Given the description of an element on the screen output the (x, y) to click on. 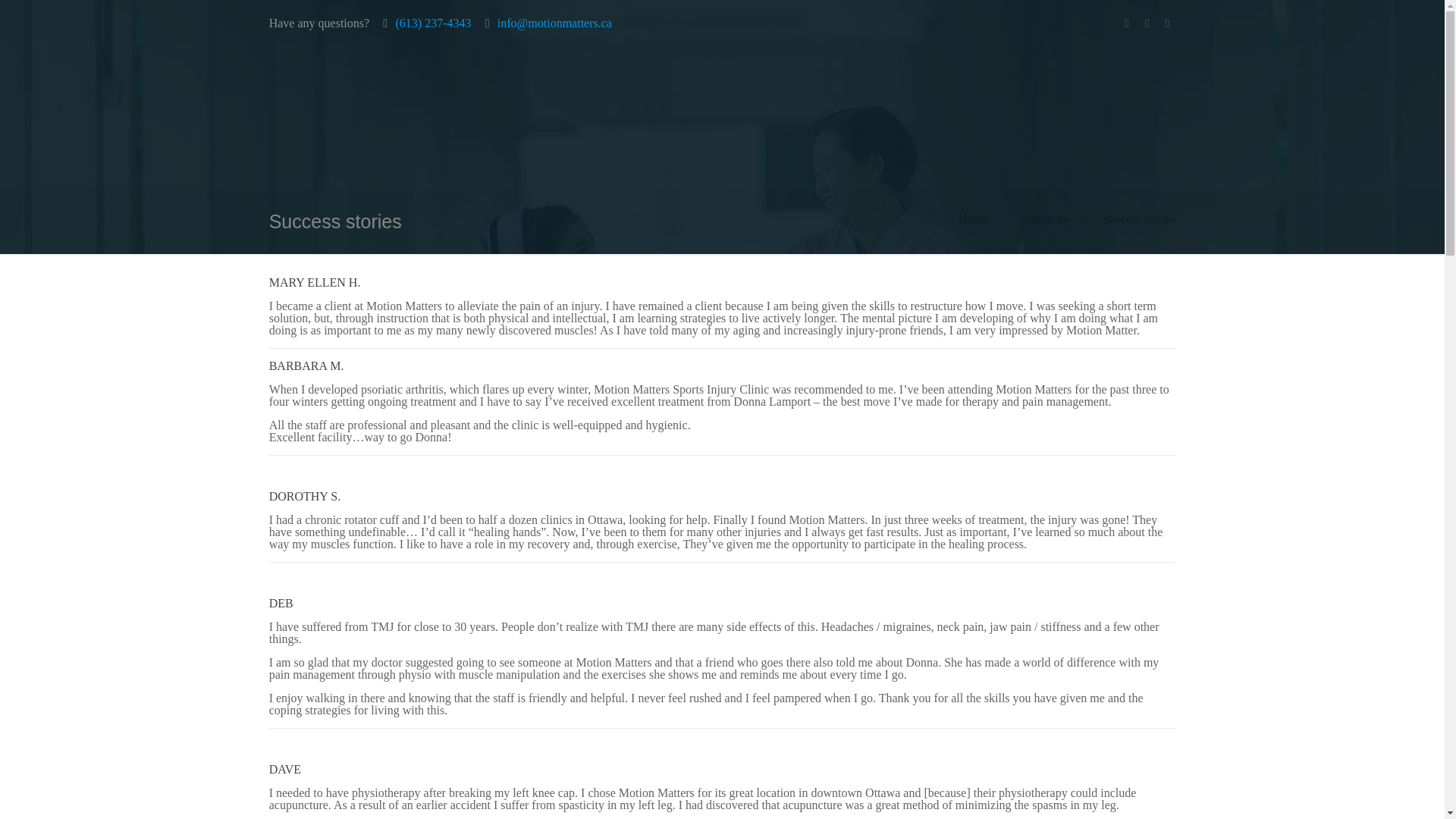
Instagram (1166, 23)
LinkedIn (1146, 23)
Facebook (1126, 23)
